Given the description of an element on the screen output the (x, y) to click on. 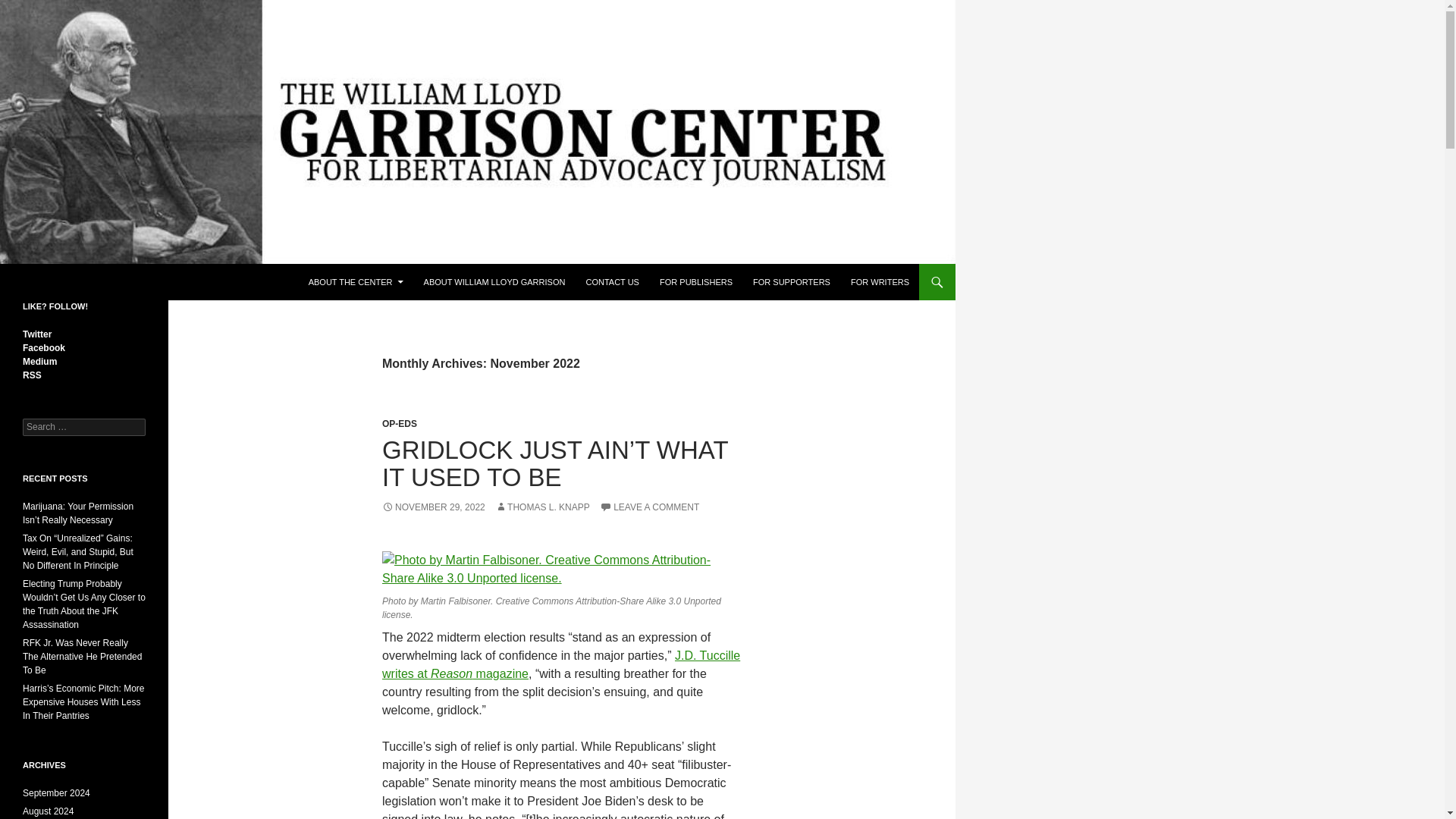
NOVEMBER 29, 2022 (432, 507)
CONTACT US (611, 281)
ABOUT THE CENTER (355, 281)
J.D. Tuccille writes at Reason magazine (560, 664)
LEAVE A COMMENT (648, 507)
FOR WRITERS (879, 281)
FOR PUBLISHERS (695, 281)
